Given the description of an element on the screen output the (x, y) to click on. 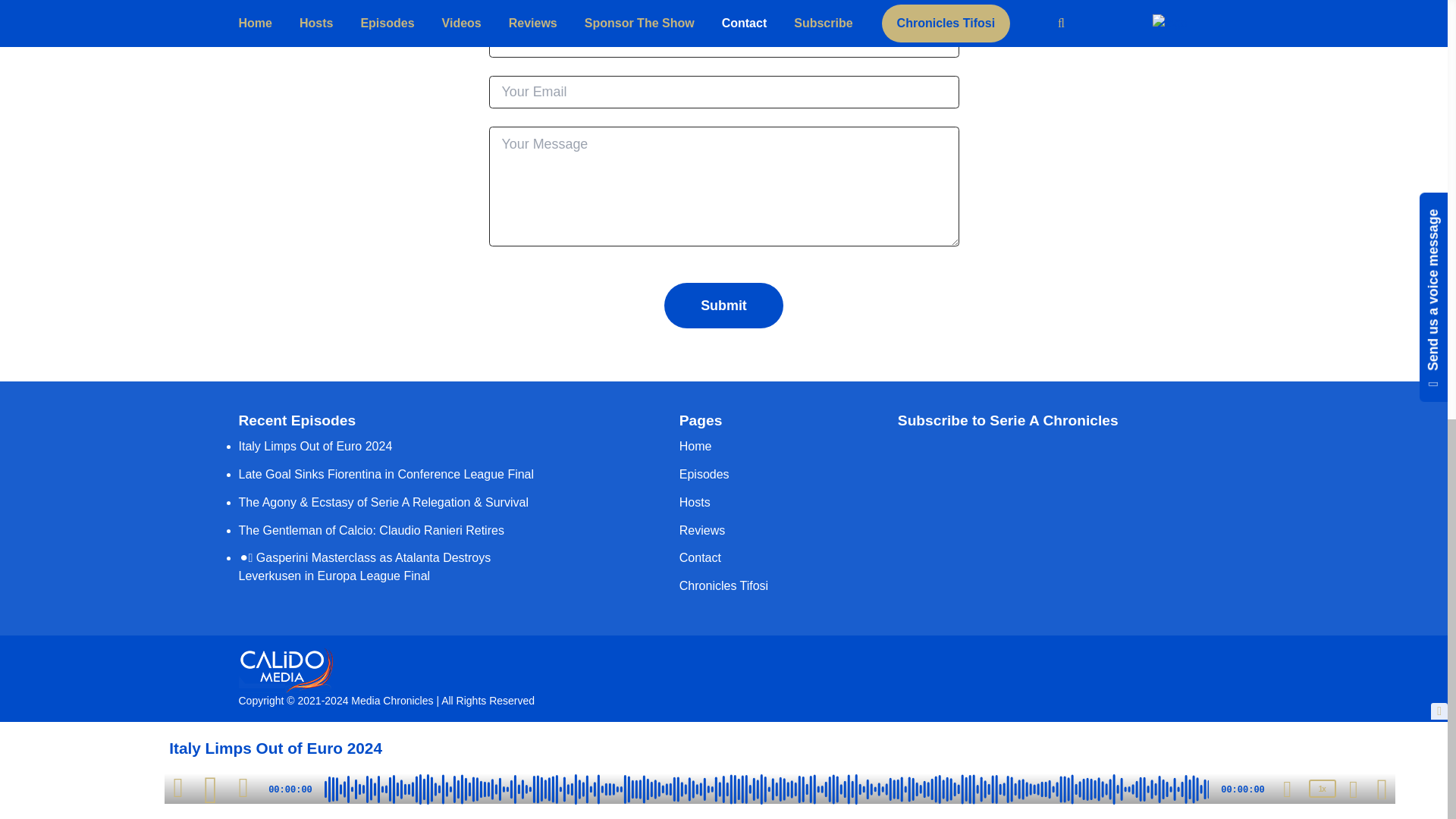
Home (695, 445)
Google Podcasts (1006, 500)
Castbox.fm (1099, 481)
Italy Limps Out of Euro 2024 (314, 445)
Submit (723, 305)
Spotify (914, 463)
Contact (699, 557)
Late Goal Sinks Fiorentina in Conference League Final (386, 473)
Submit (723, 305)
The Gentleman of Calcio: Claudio Ranieri Retires (370, 530)
